Given the description of an element on the screen output the (x, y) to click on. 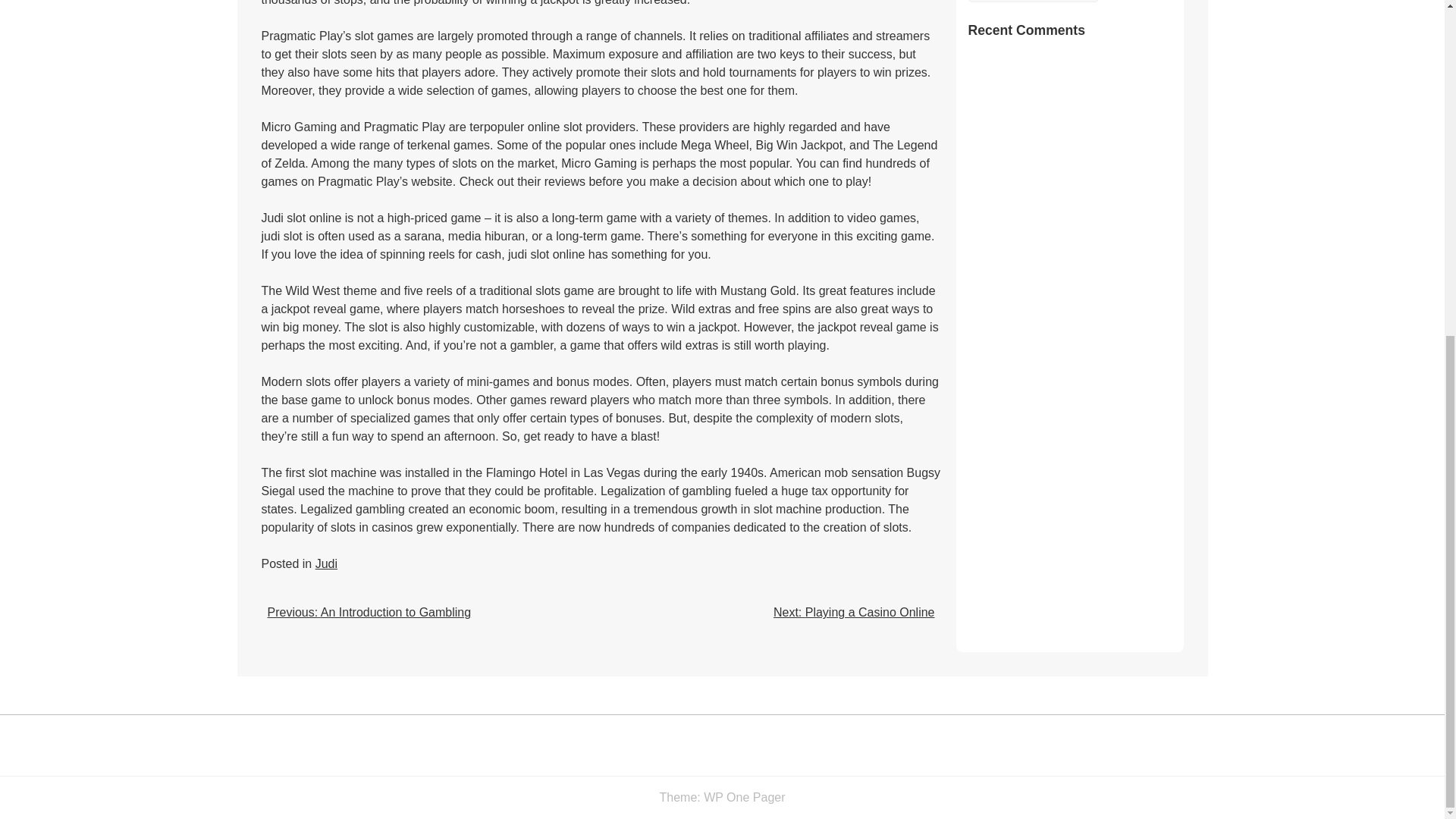
Judi (326, 563)
Next: Playing a Casino Online (853, 612)
Previous: An Introduction to Gambling (368, 612)
WP One Pager (743, 797)
How to Win at a Sportsbook (1033, 1)
